Given the description of an element on the screen output the (x, y) to click on. 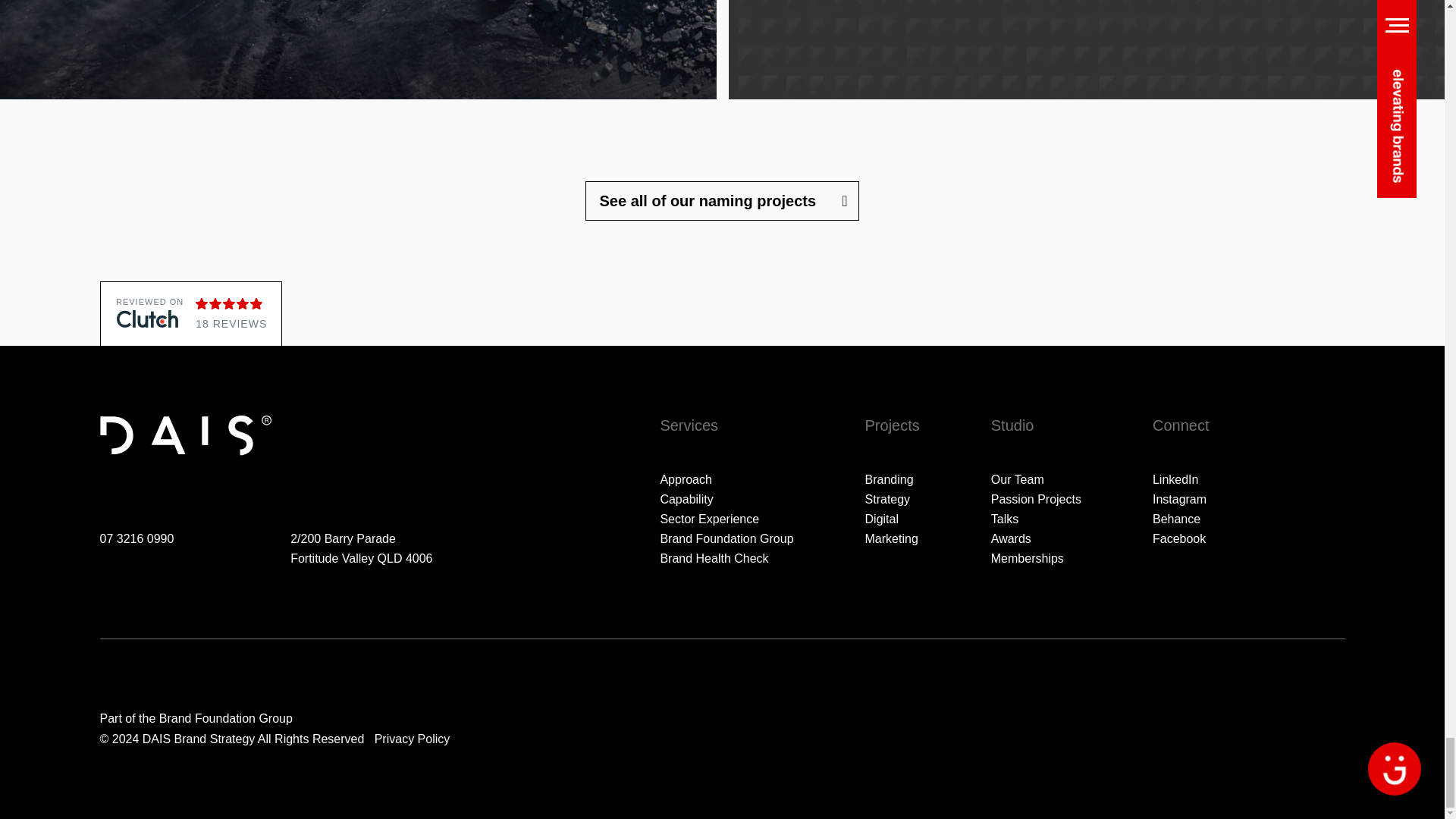
Passion Projects (1036, 499)
Services (726, 425)
Marketing (892, 538)
Our Team (1036, 479)
Talks (1036, 519)
Part of the Brand Foundation Group (196, 717)
Capability (726, 499)
LinkedIn (1181, 479)
07 3216 0990 (137, 538)
Strategy (892, 499)
Privacy Policy (411, 738)
See all of our naming projects (722, 200)
Projects (892, 425)
Awards (1036, 538)
Facebook (1181, 538)
